Given the description of an element on the screen output the (x, y) to click on. 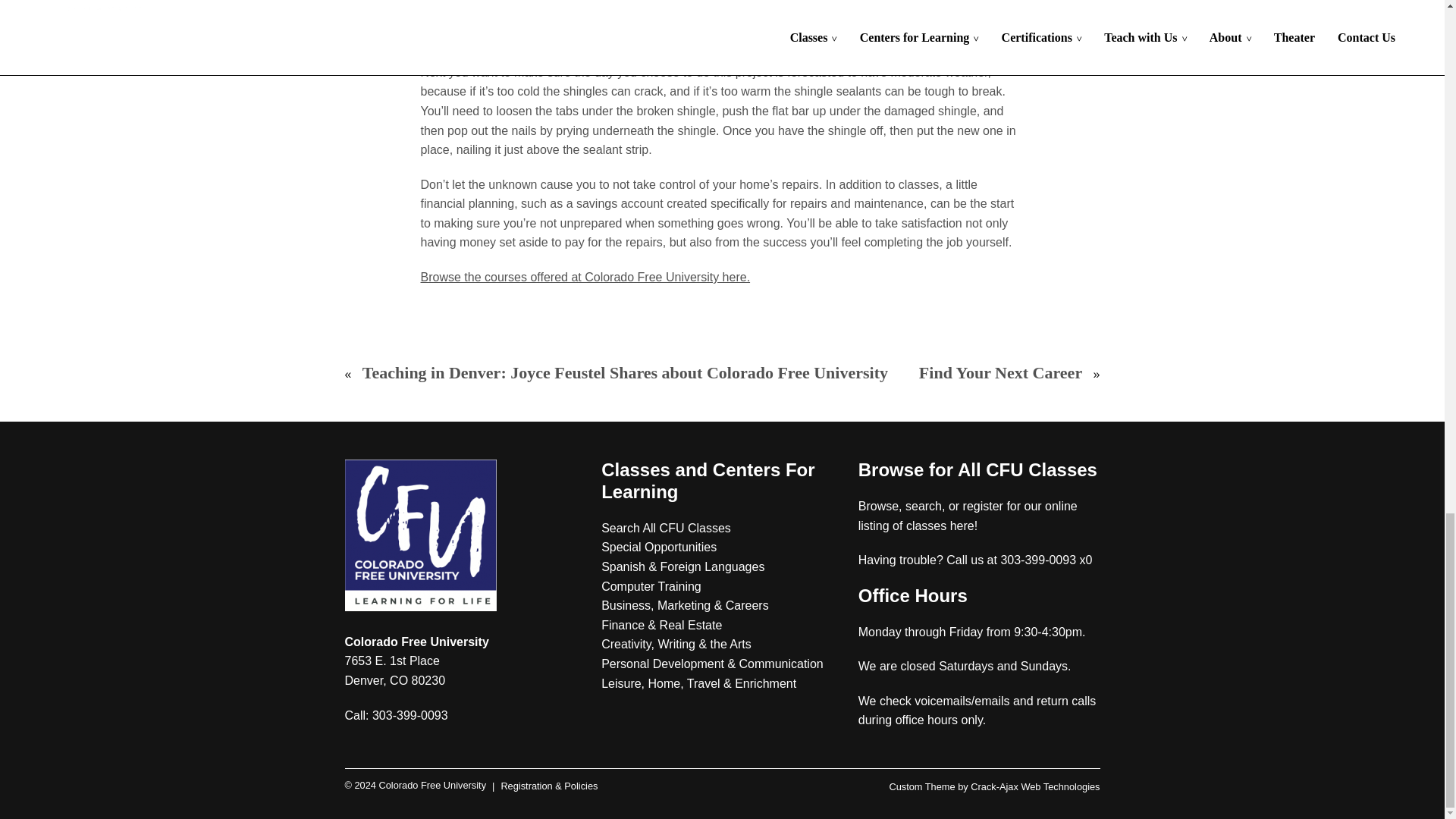
Custom Theme by Crack-Ajax Web Technologies (993, 786)
Colorado Free University (414, 785)
